Given the description of an element on the screen output the (x, y) to click on. 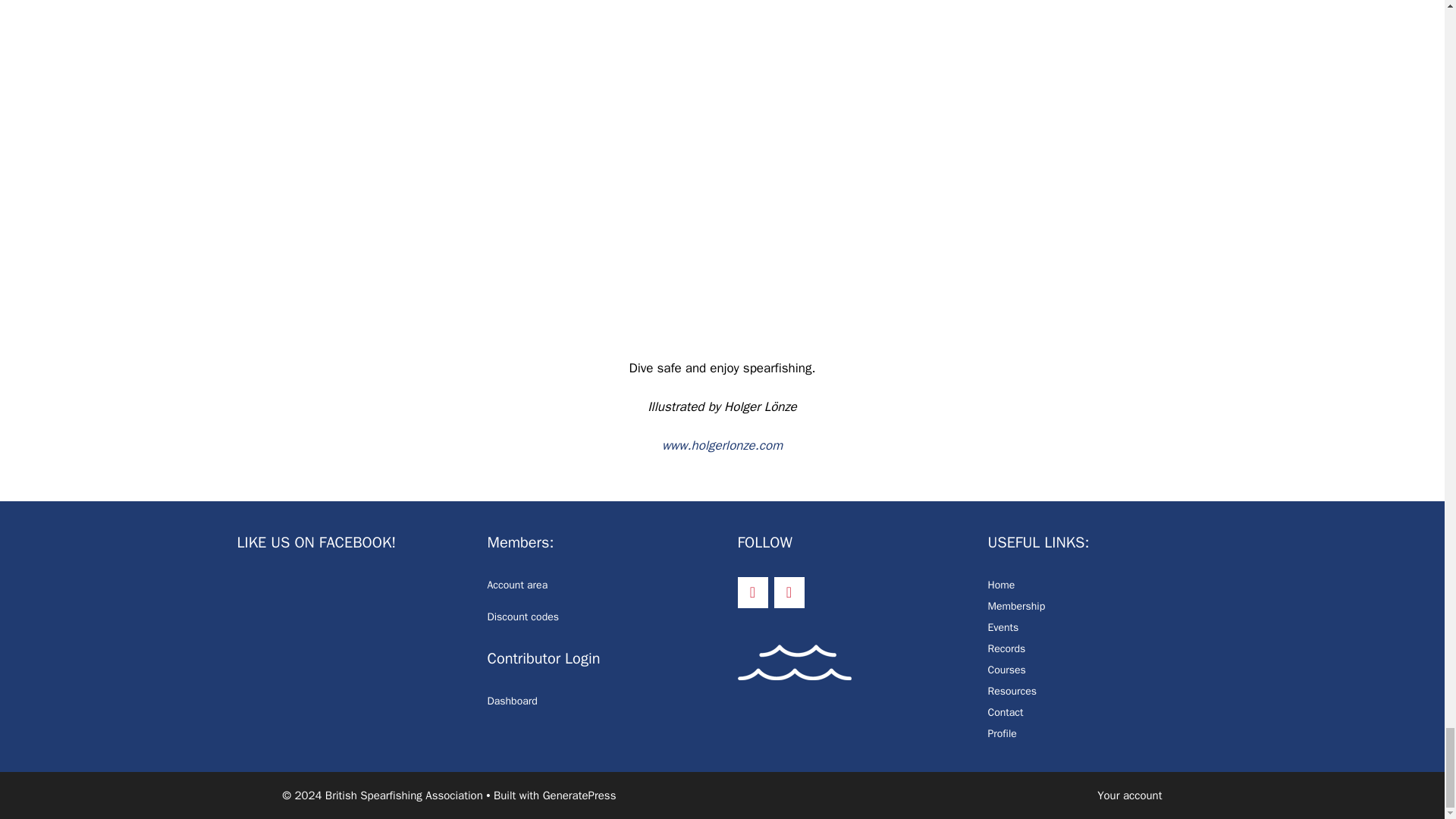
GeneratePress (579, 795)
Courses (1006, 669)
Discount codes (522, 616)
Profile (1001, 733)
Contact (1005, 712)
Dashboard (511, 700)
www.holgerlonze.com (722, 445)
Membership (1016, 605)
Your account (1129, 795)
Home (1000, 584)
